Given the description of an element on the screen output the (x, y) to click on. 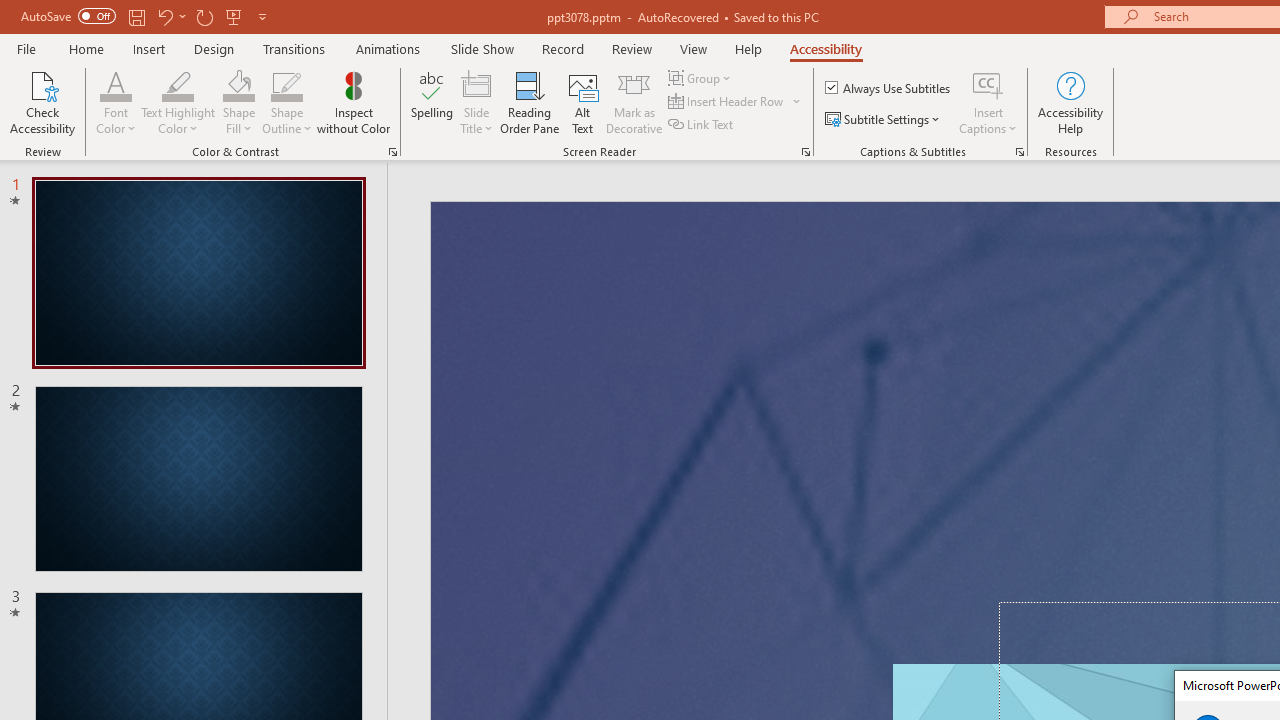
Captions & Subtitles (1019, 151)
Slide Title (476, 102)
Screen Reader (805, 151)
Insert Captions (988, 84)
Accessibility Help (1070, 102)
